Given the description of an element on the screen output the (x, y) to click on. 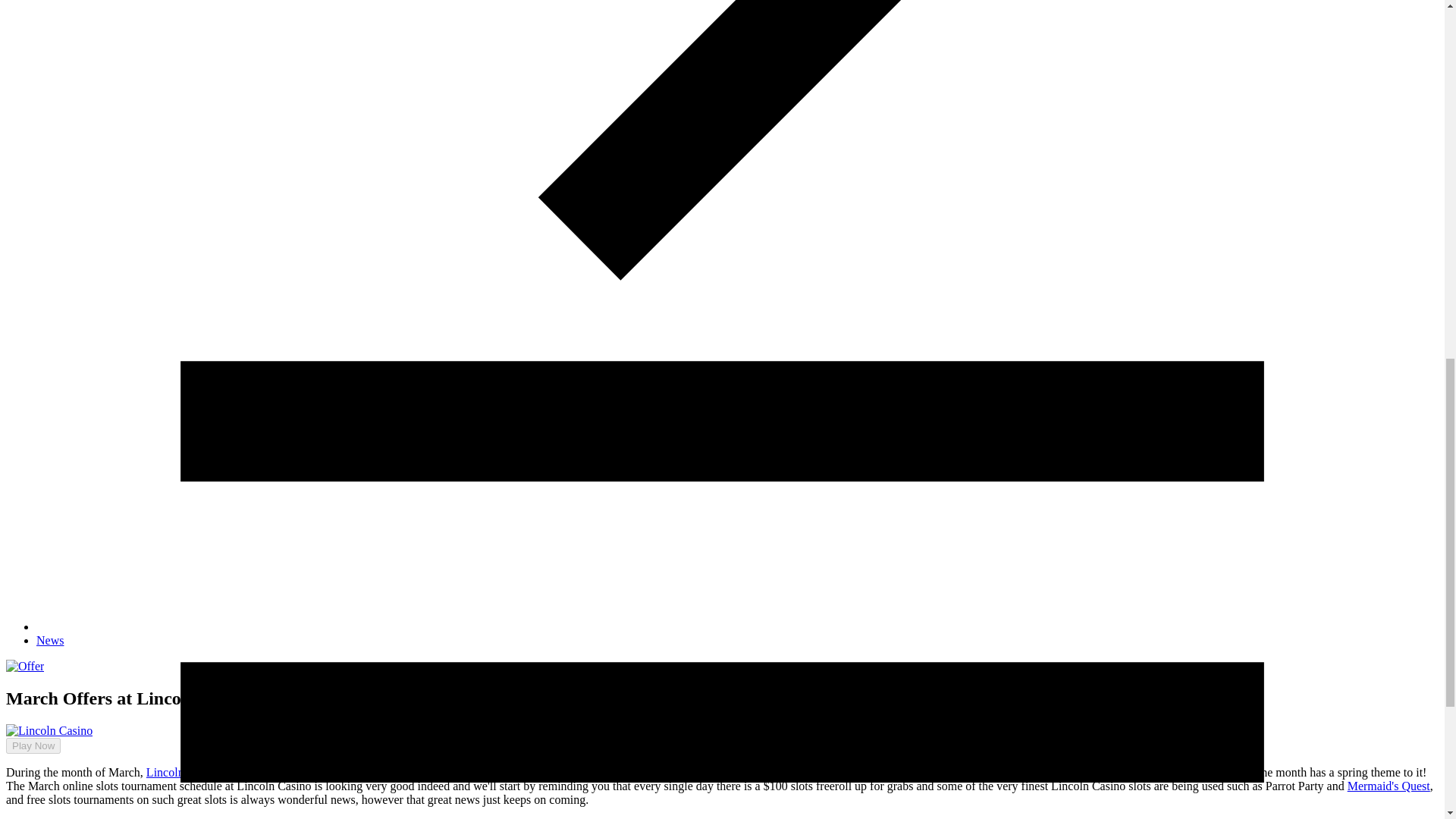
the game of the month Cherry Blossoms (1060, 771)
News (50, 640)
Mermaid's Quest (1388, 785)
Lincoln Casino (184, 771)
Play Now (27, 731)
Play Now (33, 745)
